Given the description of an element on the screen output the (x, y) to click on. 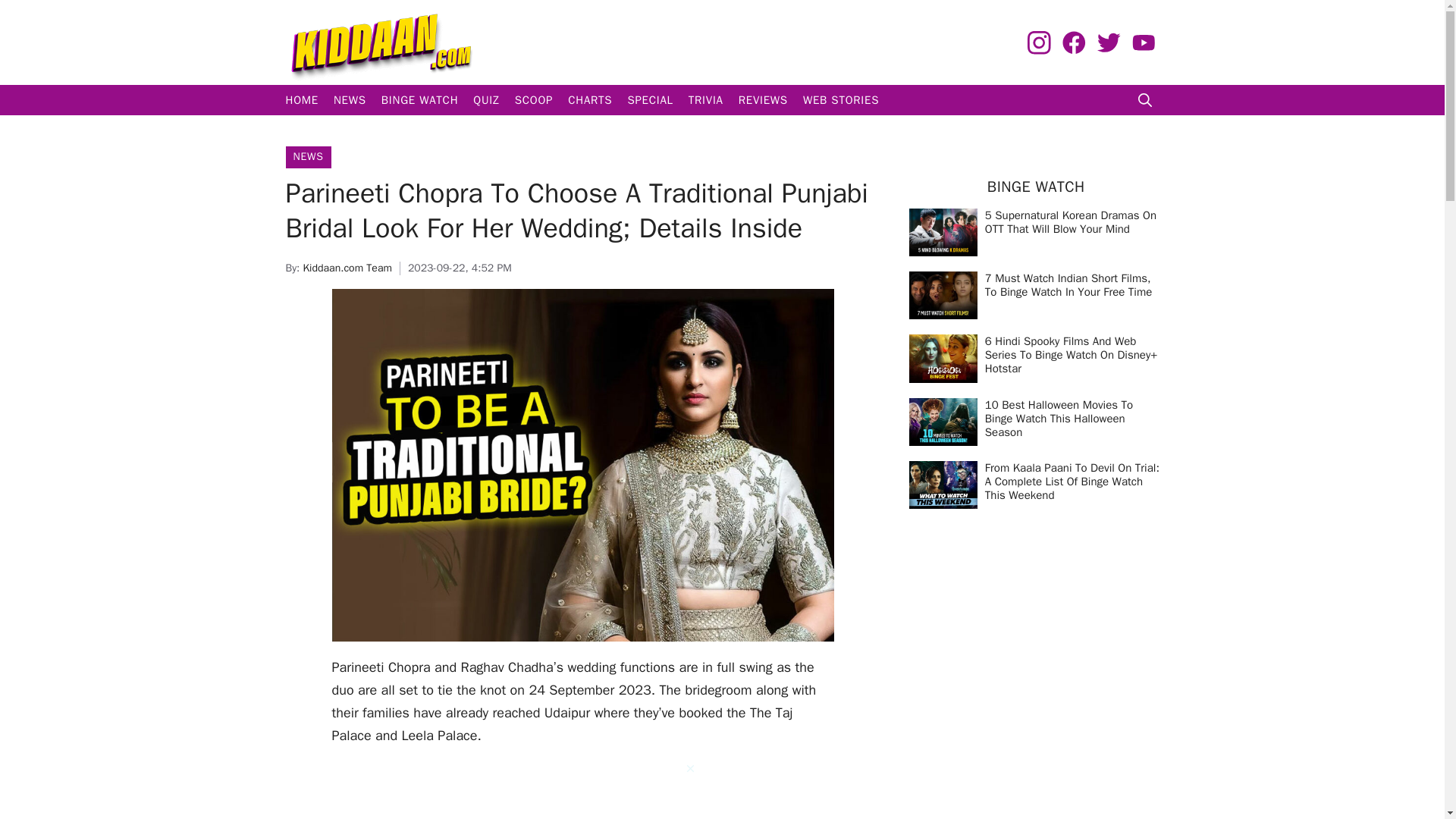
SPECIAL (649, 100)
SCOOP (533, 100)
TRIVIA (705, 100)
NEWS (307, 155)
HOME (301, 100)
CHARTS (590, 100)
